Given the description of an element on the screen output the (x, y) to click on. 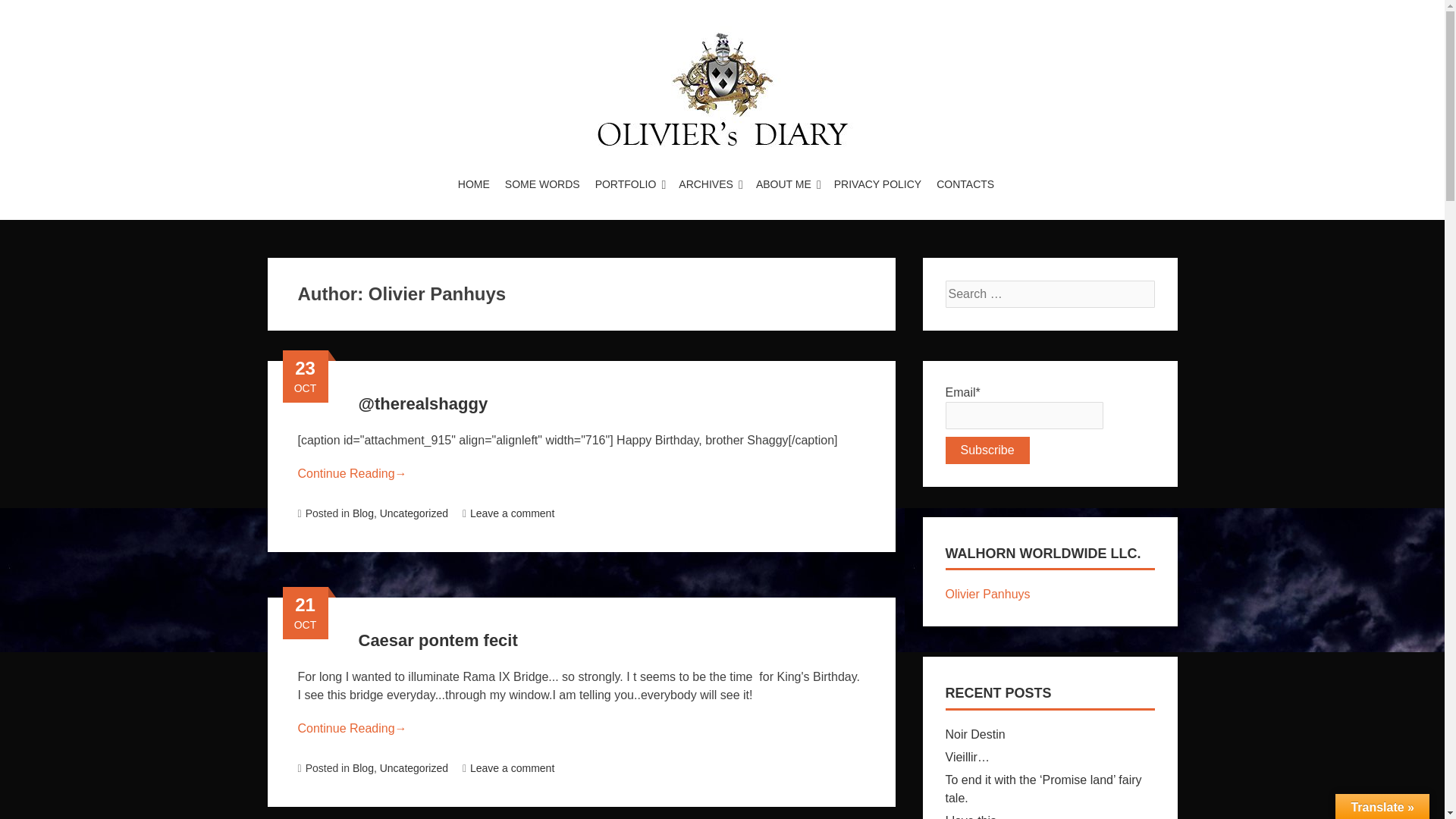
PORTFOLIO (625, 184)
HOME (473, 184)
Uncategorized (414, 512)
CONTACTS (961, 184)
PRIVACY POLICY (877, 184)
Leave a comment (508, 767)
ABOUT ME (783, 184)
ARCHIVES (706, 184)
Blog (363, 767)
